Given the description of an element on the screen output the (x, y) to click on. 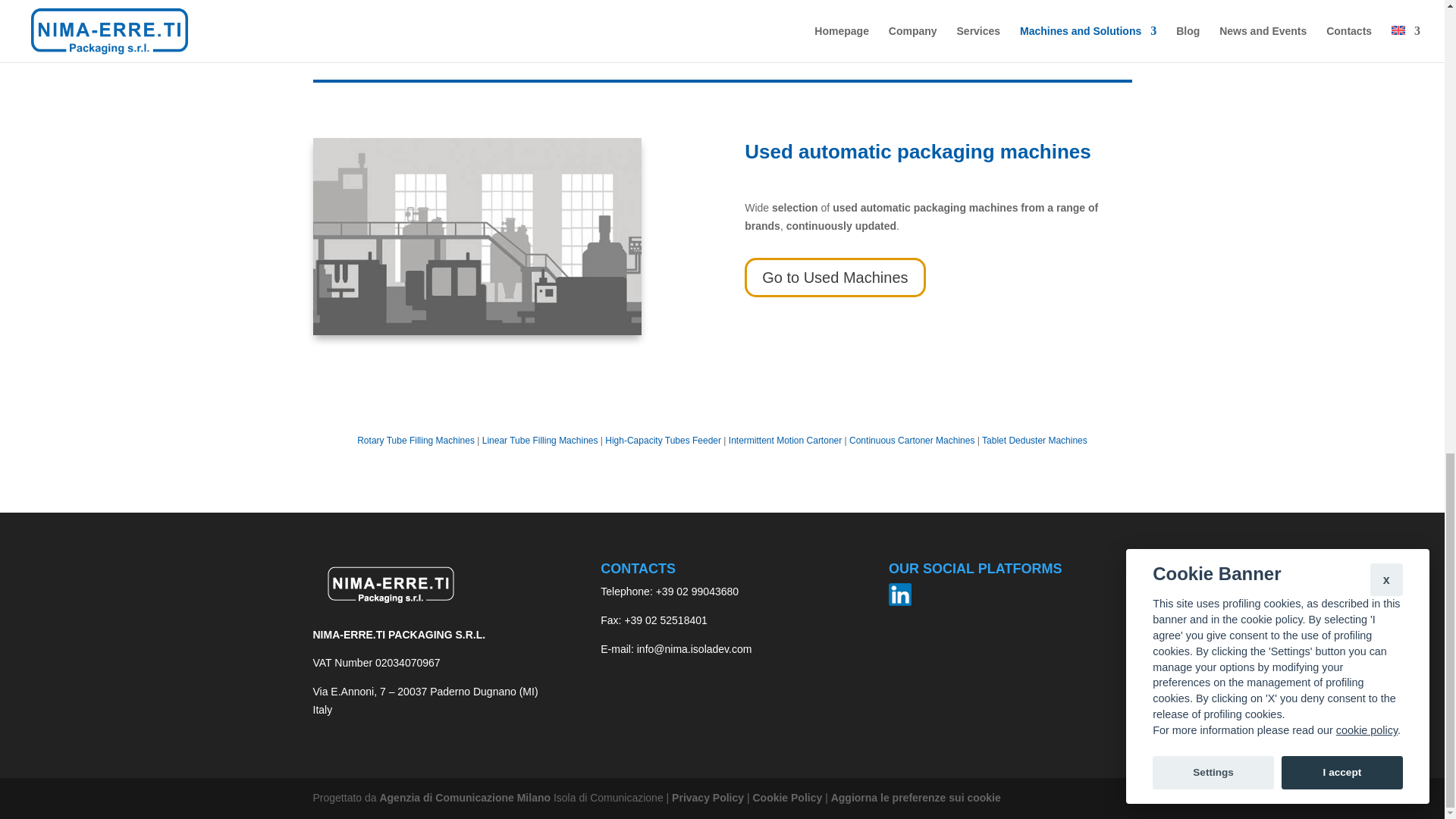
Go to Used Machines (834, 277)
Agenzia di Comunicazione Milano (464, 797)
Linear Tube Filling Machines (539, 439)
Rotary Tube Filling Machines (415, 439)
